Given the description of an element on the screen output the (x, y) to click on. 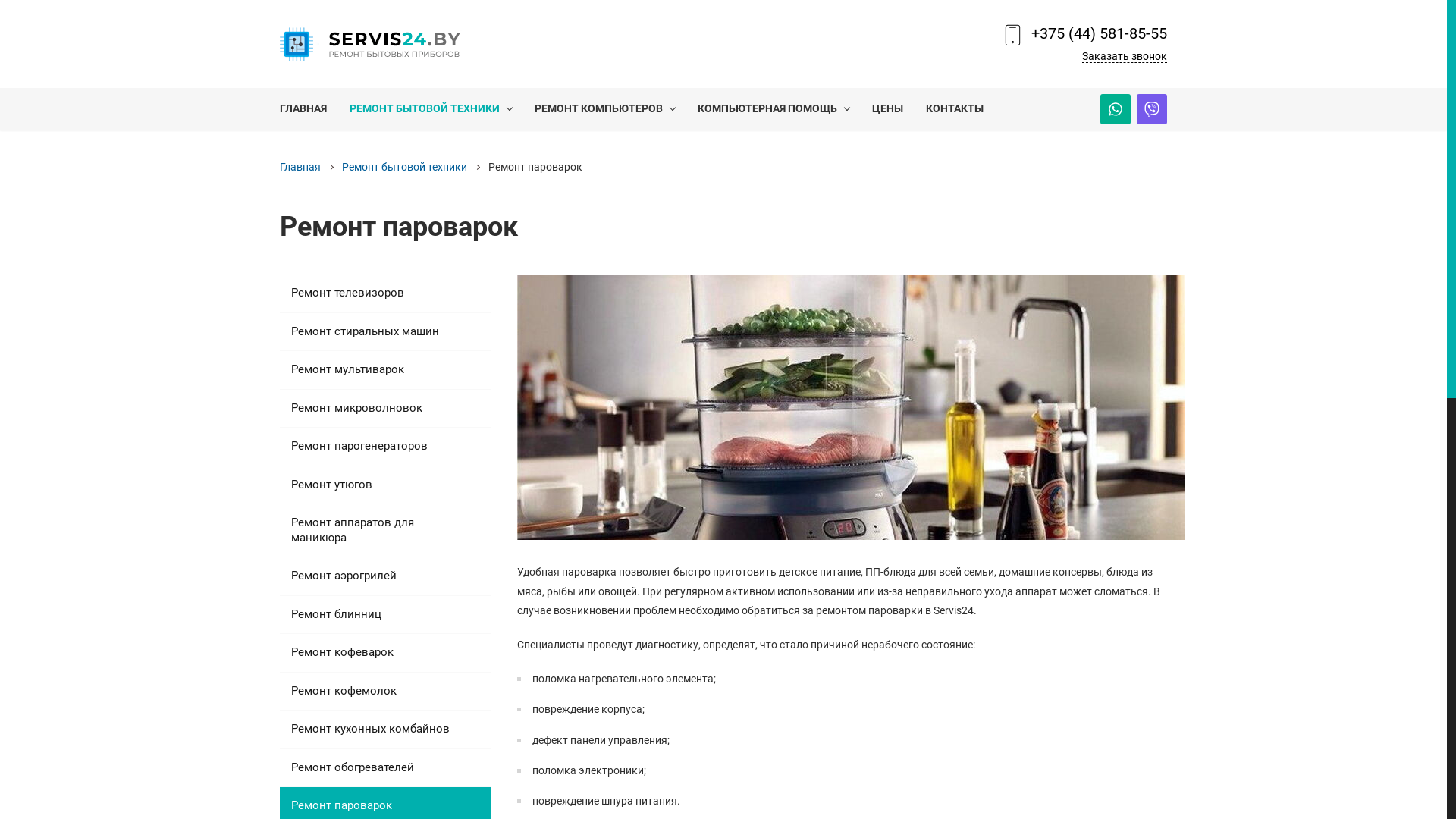
+375 (44) 581-85-55 Element type: text (1099, 33)
